Given the description of an element on the screen output the (x, y) to click on. 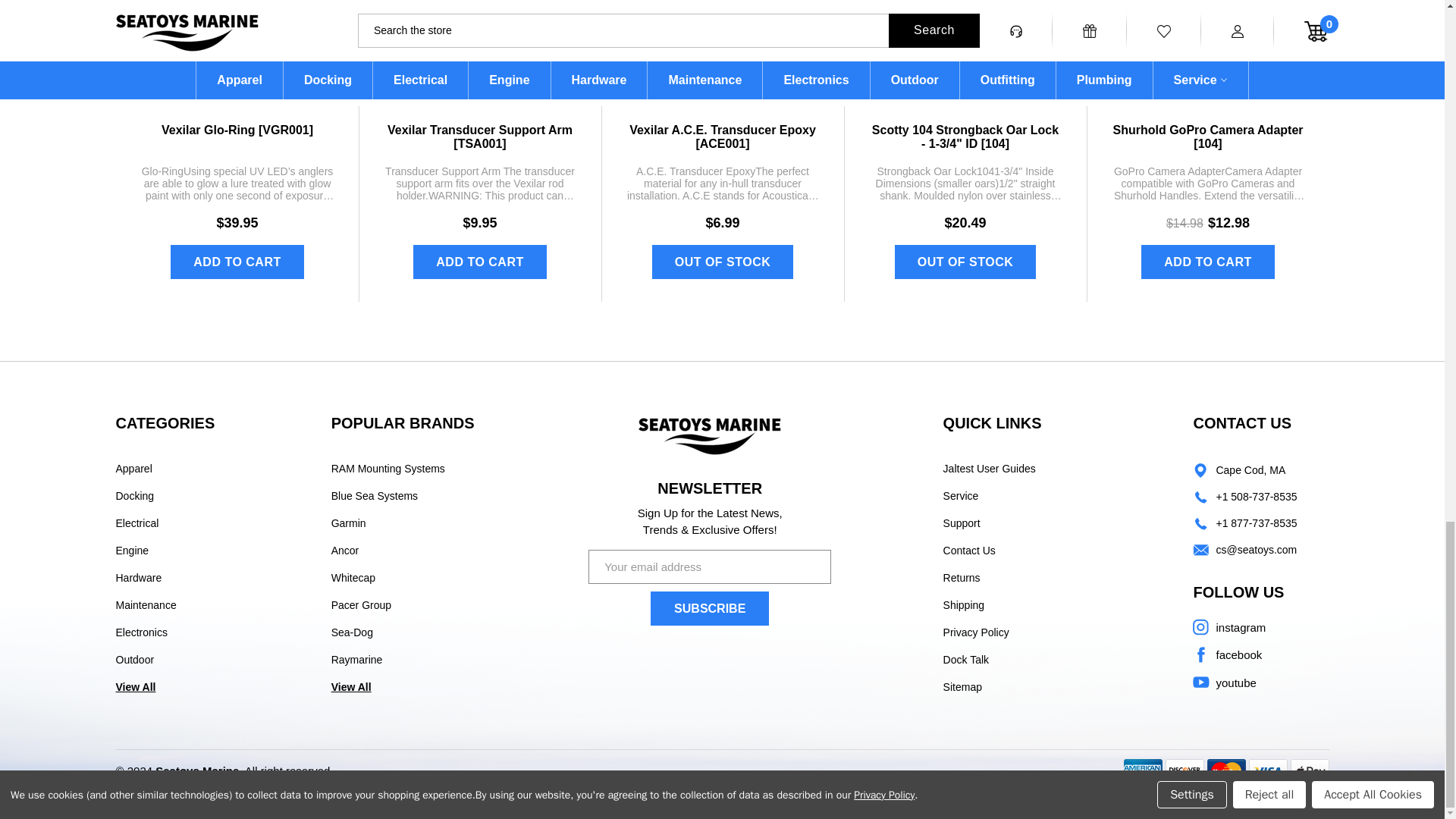
Subscribe (709, 608)
Seatoys Marine (709, 435)
Instagram (1228, 627)
